Given the description of an element on the screen output the (x, y) to click on. 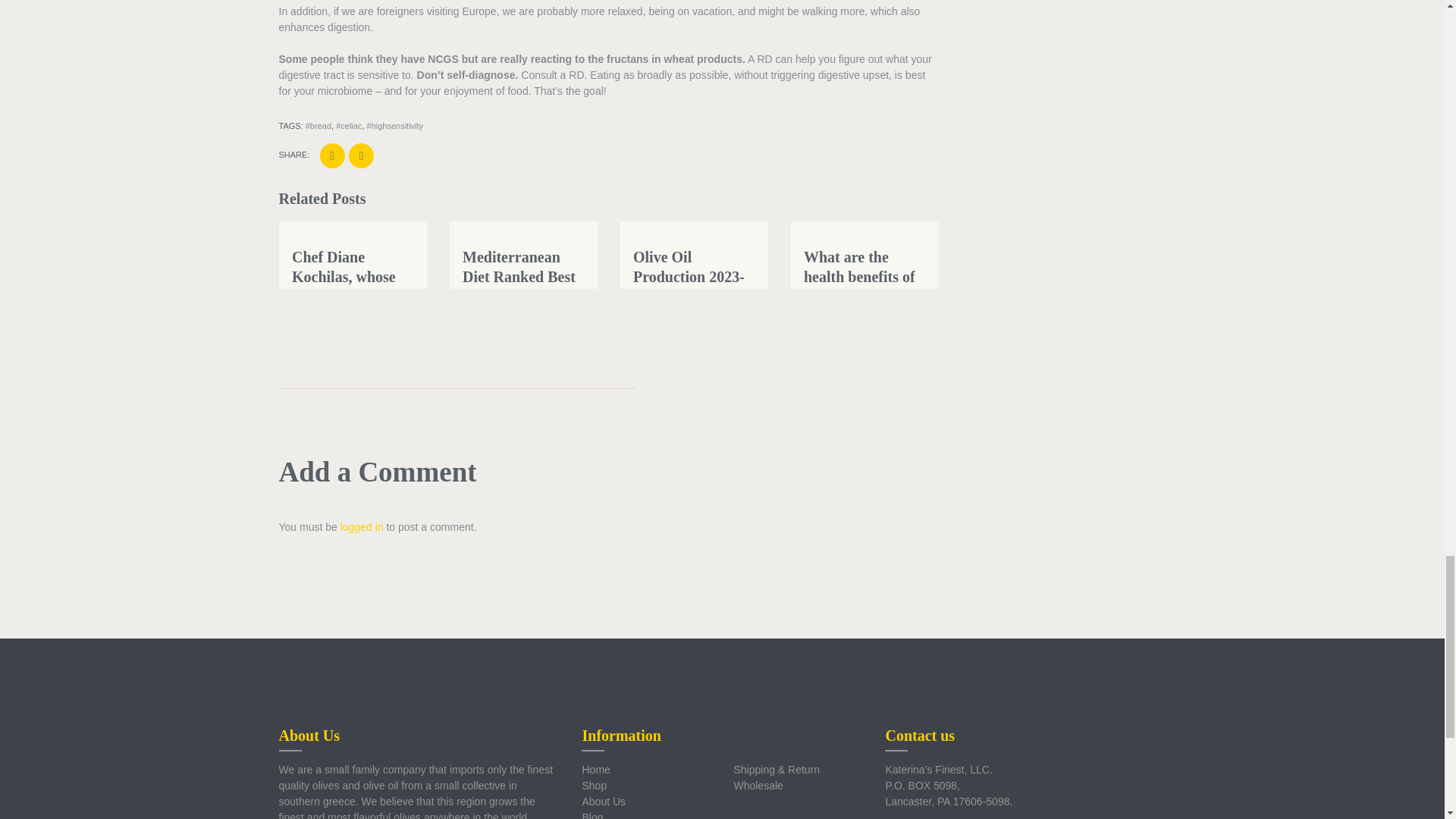
Mediterranean Diet Ranked Best Diet for 7th Year in a Row (519, 286)
logged in (362, 526)
What are the health benefits of olive oil? (859, 276)
Olive Oil Production 2023-2024 by Country (688, 276)
